Given the description of an element on the screen output the (x, y) to click on. 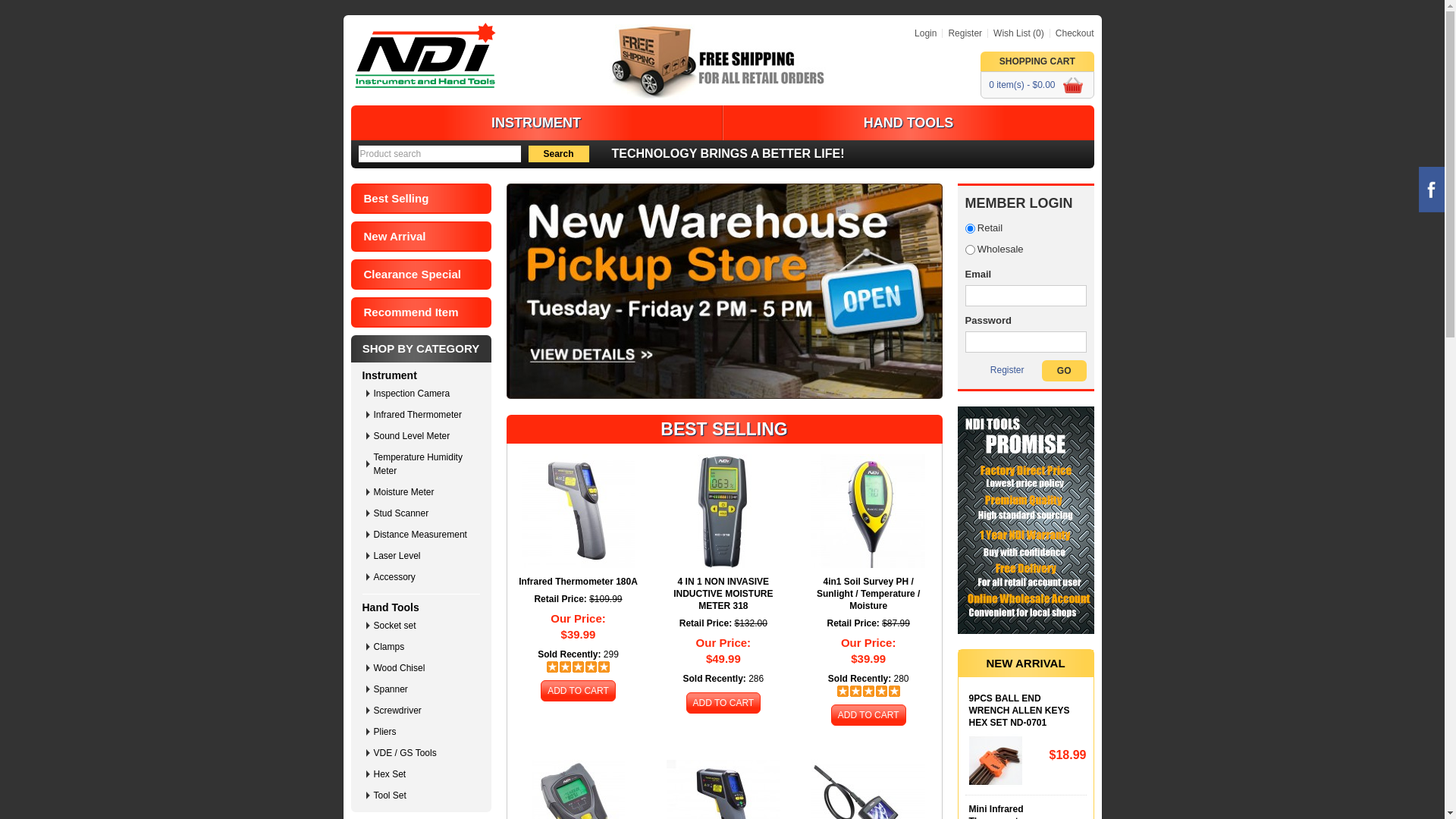
Screwdriver Element type: text (424, 710)
Register Element type: text (1007, 369)
GO Element type: text (1063, 370)
HAND TOOLS Element type: text (907, 122)
Clamps Element type: text (424, 646)
Temperature Humidity Meter Element type: text (424, 463)
Instrument Element type: text (389, 375)
4 IN 1 NON INVASIVE INDUCTIVE MOISTURE METER 318 Element type: text (723, 593)
9PCS BALL END WRENCH ALLEN KEYS HEX SET ND-0701 Element type: text (1025, 710)
Infrared Thermometer 180A Element type: text (577, 581)
Clearance Special Element type: text (420, 274)
4in1 Soil Survey PH / Sunlight / Temperature / Moisture Element type: text (867, 593)
Tool Set Element type: text (424, 795)
Infrared Thermometer Element type: text (424, 414)
Banner 2 Element type: hover (1025, 519)
VDE / GS Tools Element type: text (424, 752)
Distance Measurement Element type: text (424, 534)
Wish List (0) Element type: text (1015, 32)
Add to Cart Element type: text (722, 702)
Search Element type: text (557, 153)
Spanner Element type: text (424, 689)
Inspection Camera Element type: text (424, 393)
Accessory Element type: text (424, 576)
Socket set Element type: text (424, 625)
Checkout Element type: text (1071, 32)
0 item(s) - $0.00 Element type: text (1036, 84)
New Arrival Element type: text (420, 236)
Best Selling Element type: text (420, 198)
Sound Level Meter Element type: text (424, 435)
Login Element type: text (925, 32)
Add to Cart Element type: text (577, 690)
Wood Chisel Element type: text (424, 667)
Register Element type: text (961, 32)
INSTRUMENT Element type: text (535, 122)
Hex Set Element type: text (424, 774)
Laser Level Element type: text (424, 555)
Stud Scanner Element type: text (424, 513)
Add to Cart Element type: text (868, 714)
Hand Tools Element type: text (390, 607)
Pliers Element type: text (424, 731)
NDI Instrument and Hand Tools Element type: hover (424, 54)
Moisture Meter Element type: text (424, 491)
Recommend Item Element type: text (420, 312)
